Given the description of an element on the screen output the (x, y) to click on. 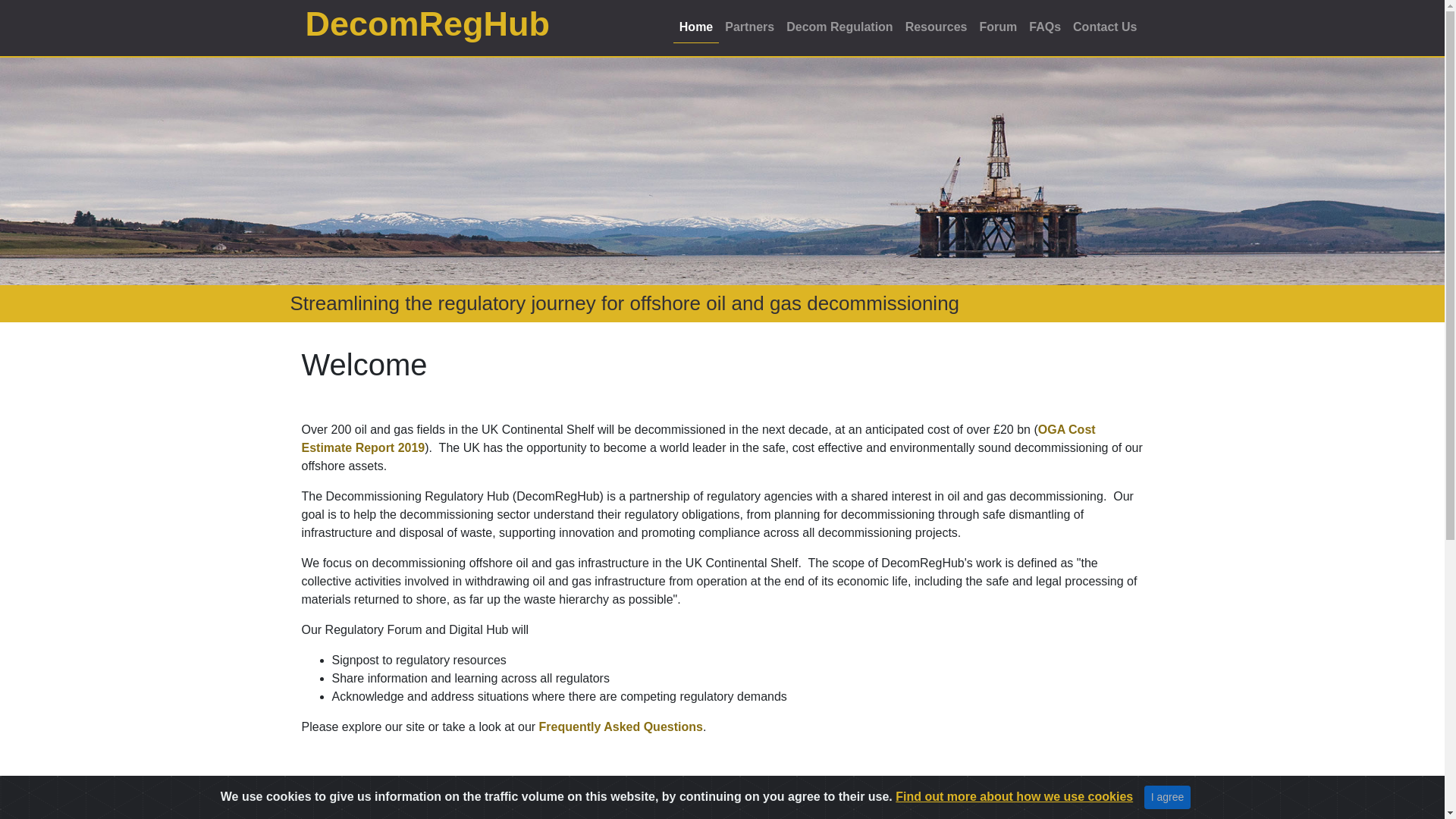
Resources (936, 27)
Home (695, 27)
Decom Regulation (839, 27)
OGA Cost Estimate Report 2019 (698, 438)
Partners (749, 27)
Forum (997, 27)
DecomRegHub (427, 24)
Forum (997, 27)
Contact Us (1104, 27)
Frequently Asked Questions (620, 726)
FAQs (620, 726)
Contact Us (1104, 27)
FAQs (1045, 27)
FAQs (1045, 27)
Partners (749, 27)
